Given the description of an element on the screen output the (x, y) to click on. 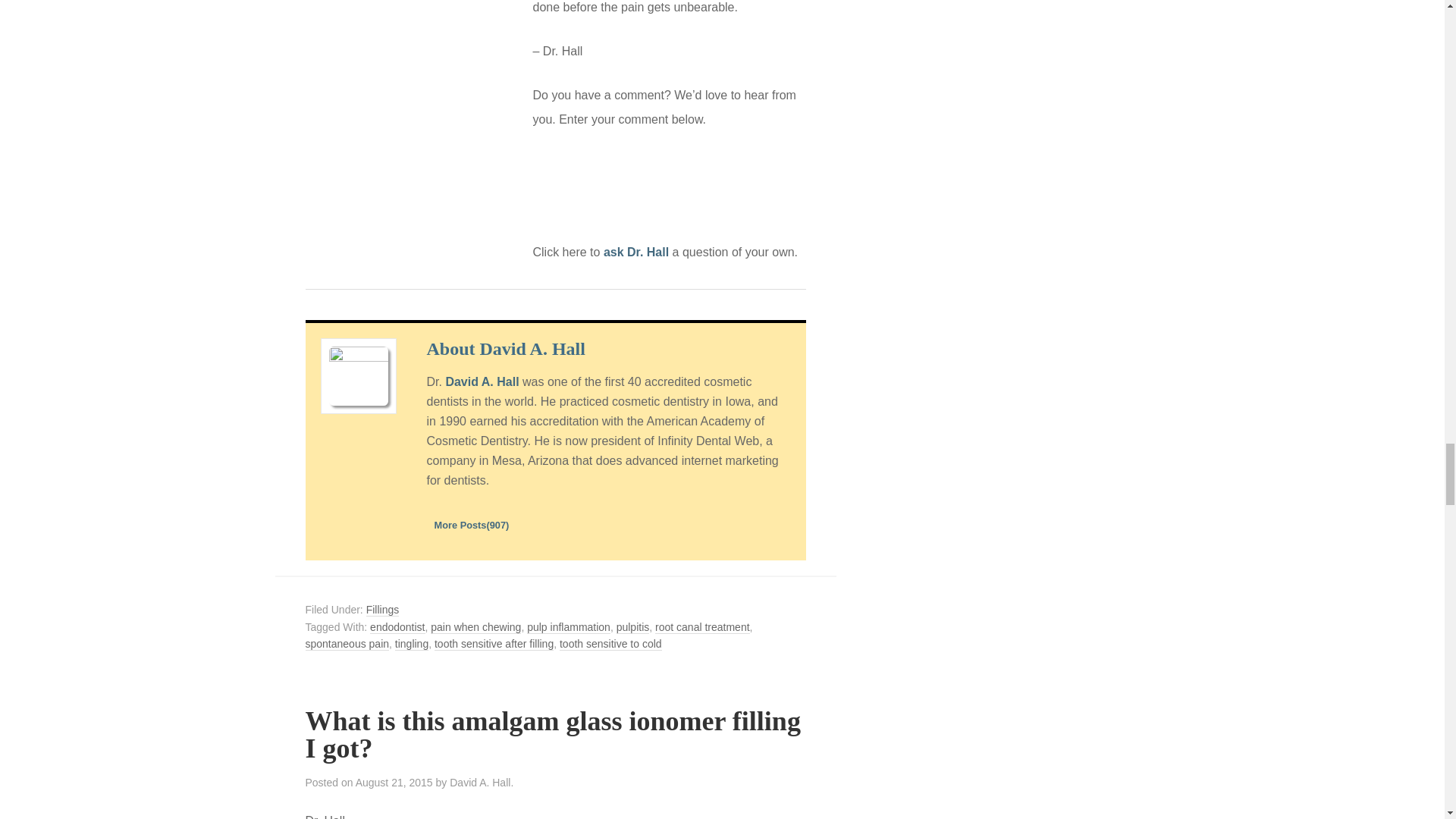
pain when chewing (475, 626)
pulp inflammation (568, 626)
More Posts By David A. Hall (470, 524)
ask Dr. Hall (636, 251)
Fillings (382, 609)
endodontist (397, 626)
David A. Hall (481, 381)
